Given the description of an element on the screen output the (x, y) to click on. 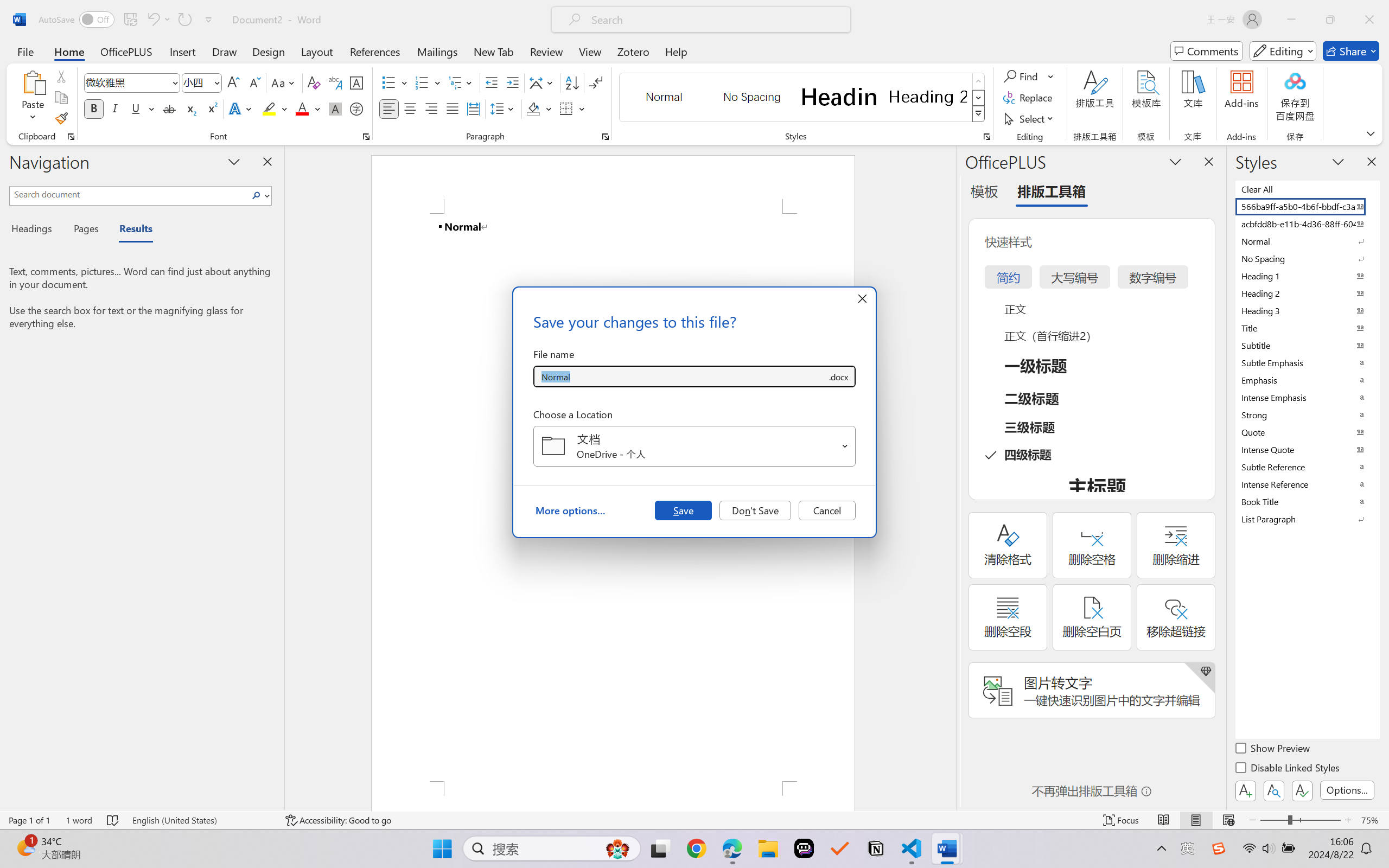
Justify (452, 108)
Font Color (308, 108)
Text Highlight Color (274, 108)
Align Left (388, 108)
Zoom Out (1273, 819)
Layout (316, 51)
Mode (1283, 50)
Draw (224, 51)
Accessibility Checker Accessibility: Good to go (338, 819)
